Given the description of an element on the screen output the (x, y) to click on. 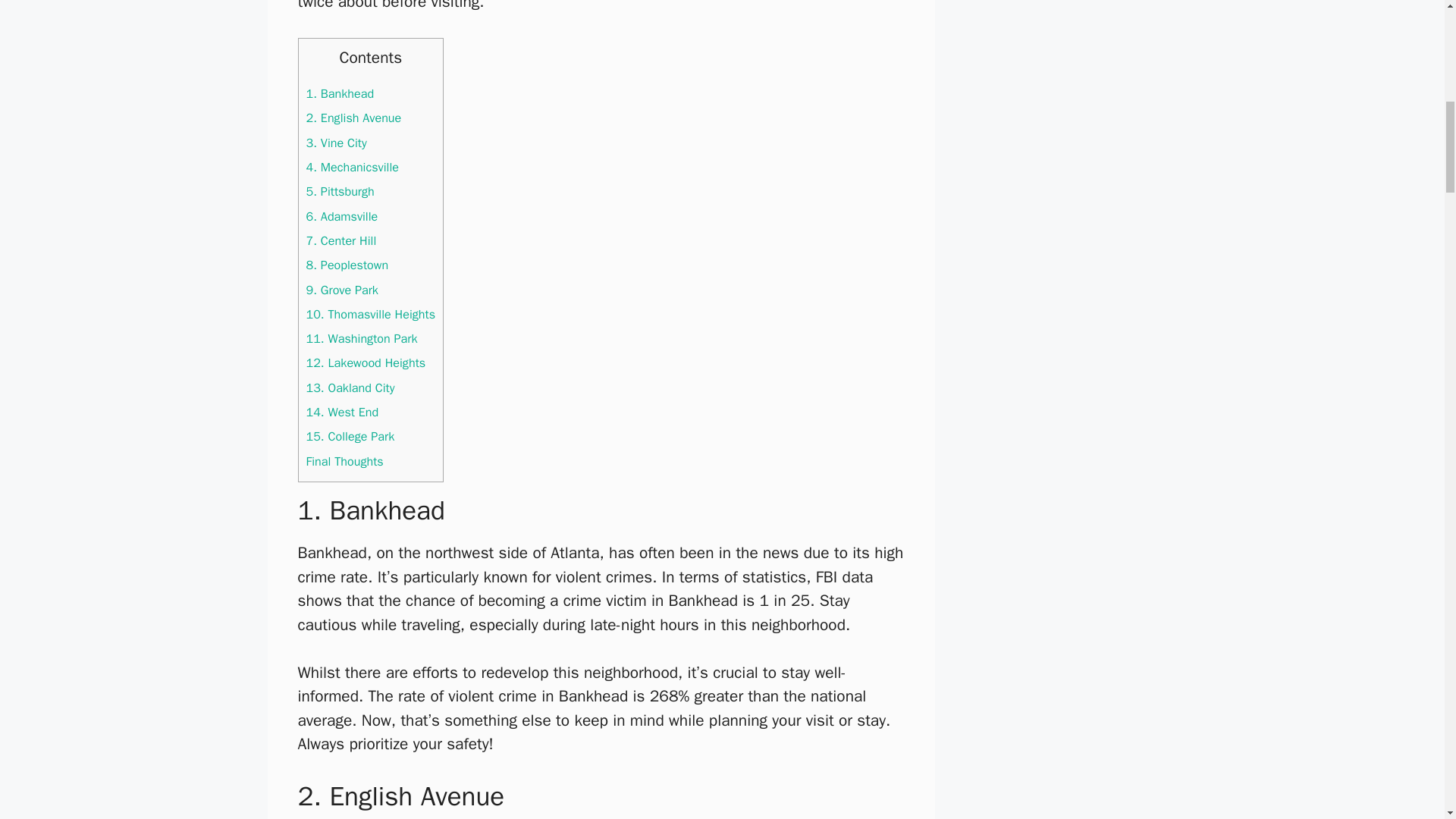
Scroll back to top (1406, 720)
